Given the description of an element on the screen output the (x, y) to click on. 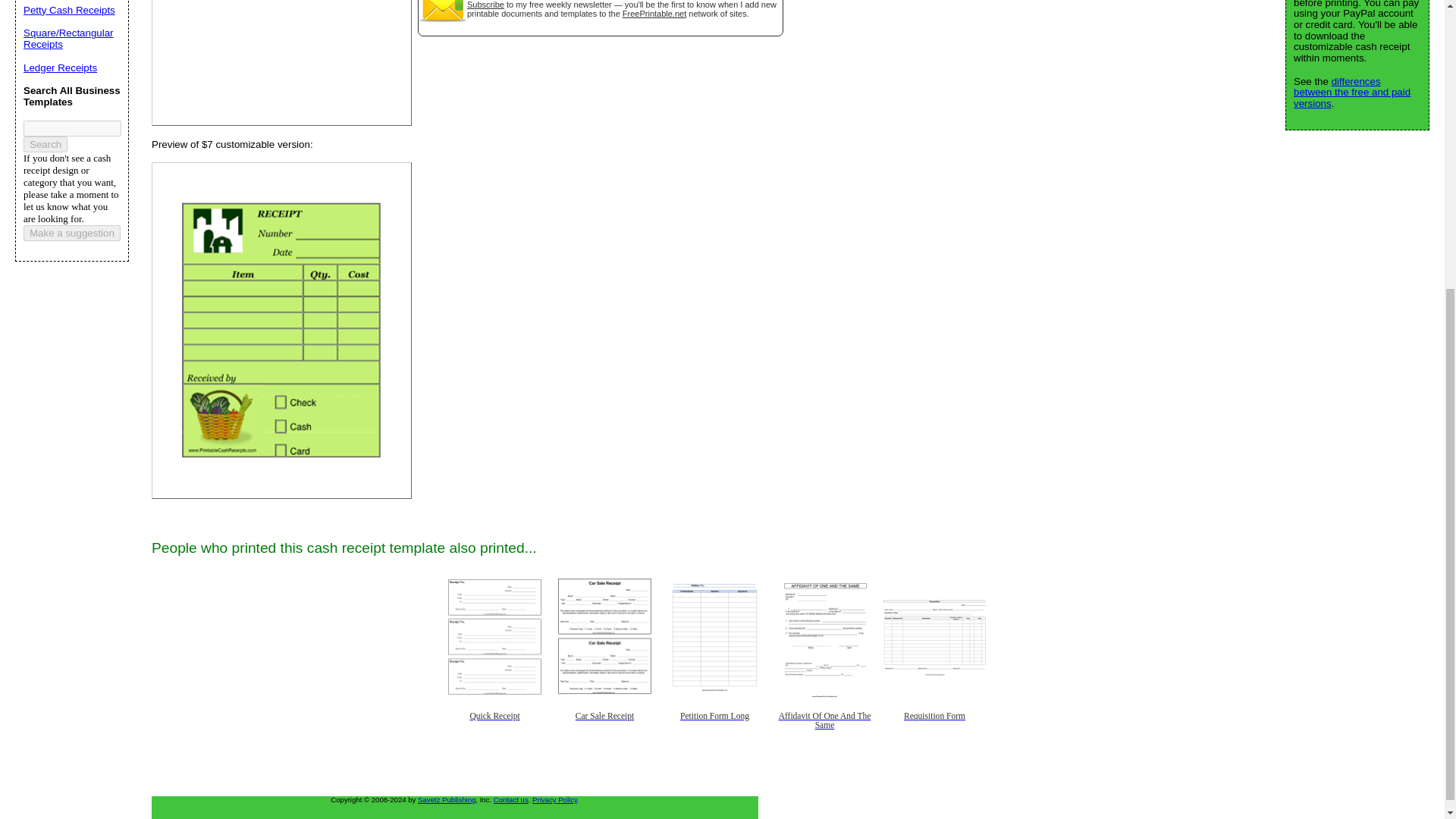
Petition Form Long (714, 727)
Savetz Publishing (446, 799)
Ledger Receipts (60, 67)
Affidavit Of One And The Same (824, 727)
FreePrintable.net (654, 13)
Make a suggestion (71, 232)
Quick Receipt (495, 727)
differences between the free and paid versions (1352, 92)
Search (44, 143)
Contact us (510, 799)
Car Sale Receipt (604, 727)
Petty Cash Receipts (69, 9)
Privacy Policy (554, 799)
Search (44, 143)
Requisition Form (934, 727)
